Given the description of an element on the screen output the (x, y) to click on. 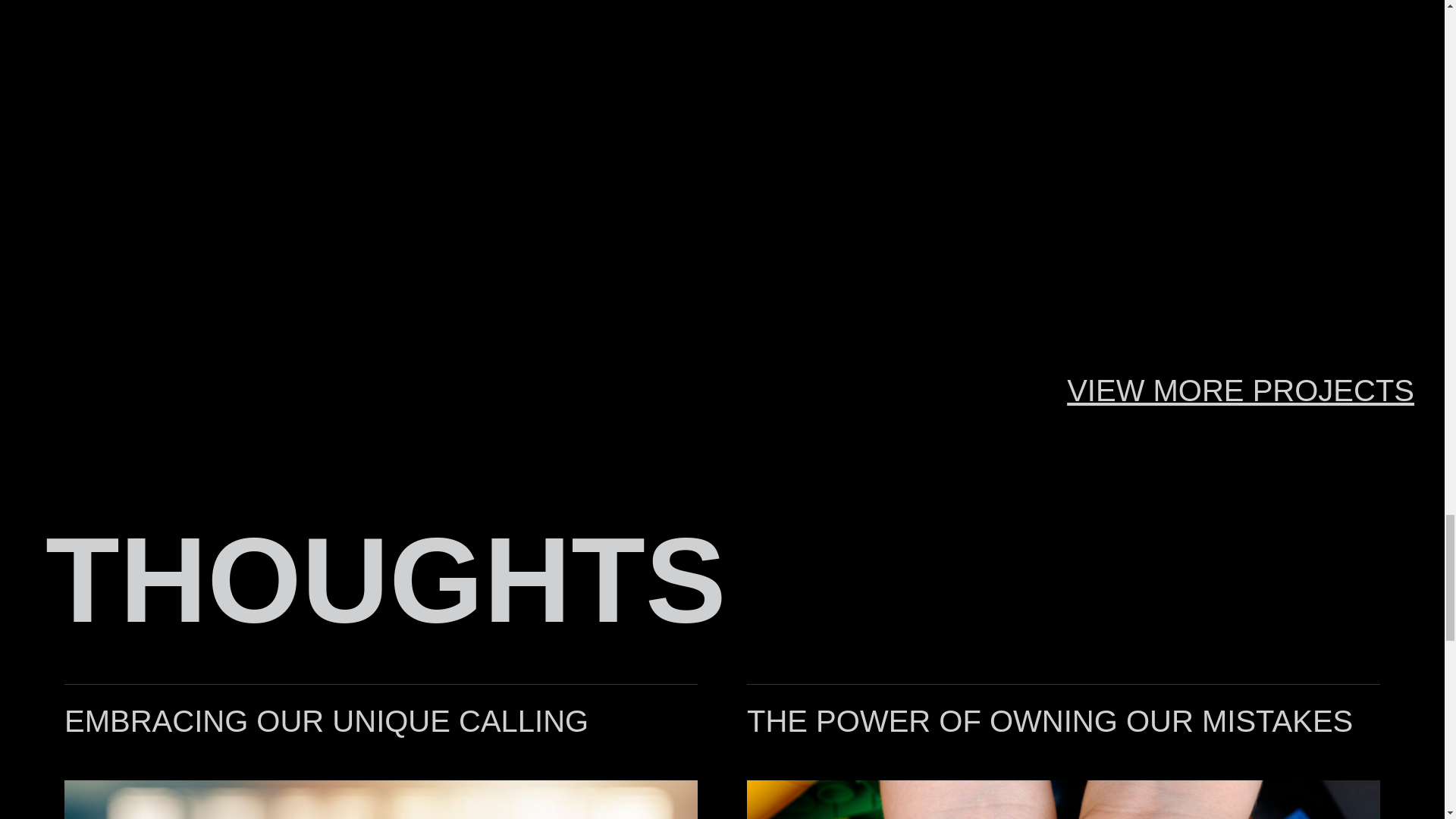
The Power of Owning Our Mistakes (1049, 720)
View More Projects (1240, 390)
EMBRACING OUR UNIQUE CALLING (326, 720)
THE POWER OF OWNING OUR MISTAKES (1049, 720)
Embracing Our Unique Calling (326, 720)
VIEW MORE PROJECTS (1240, 390)
